Given the description of an element on the screen output the (x, y) to click on. 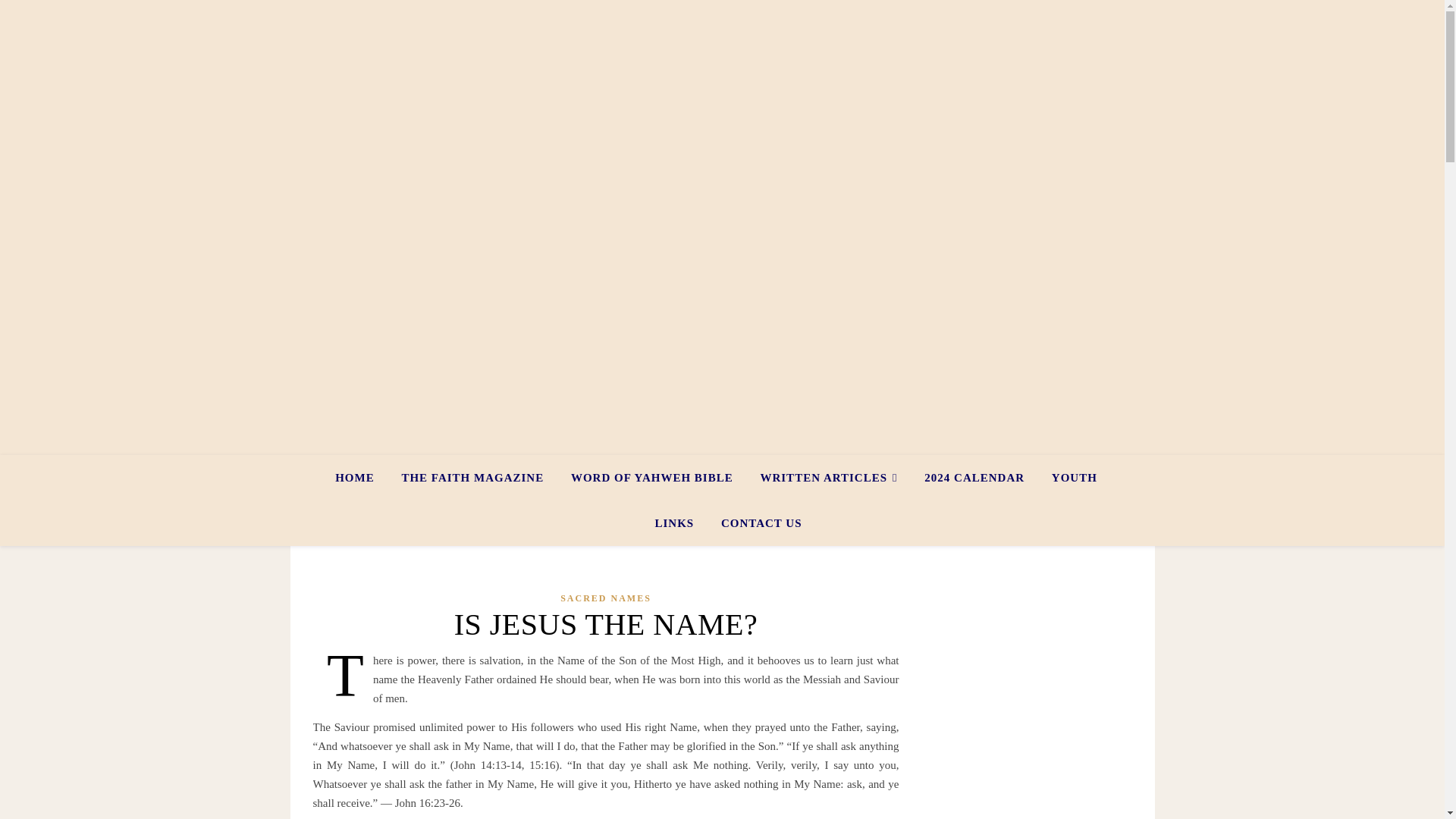
YOUTH (1074, 477)
LINKS (674, 523)
WORD OF YAHWEH BIBLE (652, 477)
CONTACT US (755, 523)
HOME (360, 477)
WRITTEN ARTICLES (828, 477)
SACRED NAMES (605, 597)
2024 CALENDAR (974, 477)
THE FAITH MAGAZINE (472, 477)
